Given the description of an element on the screen output the (x, y) to click on. 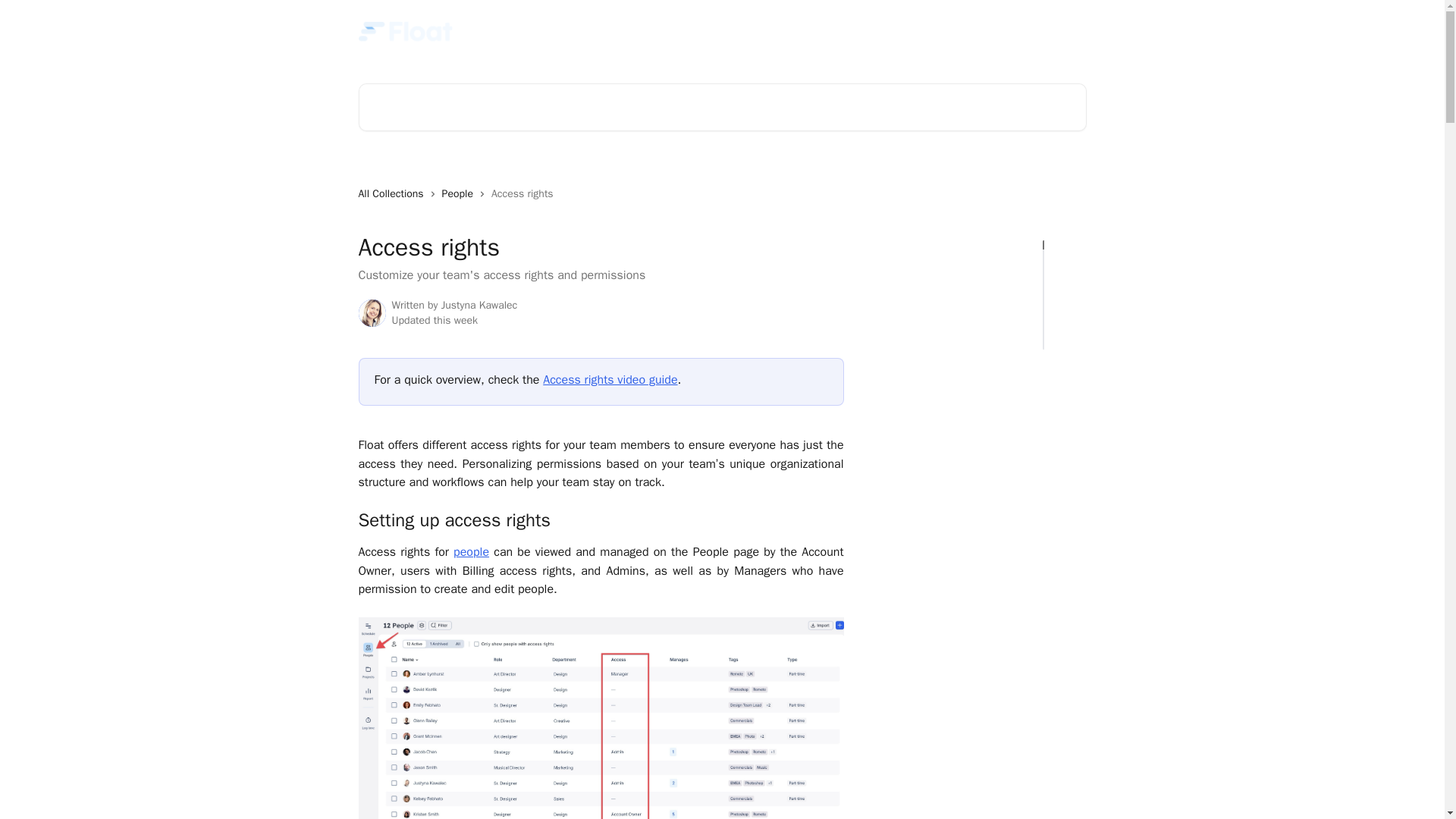
Access rights video guide (610, 379)
people (470, 551)
People (460, 193)
All Collections (393, 193)
